Given the description of an element on the screen output the (x, y) to click on. 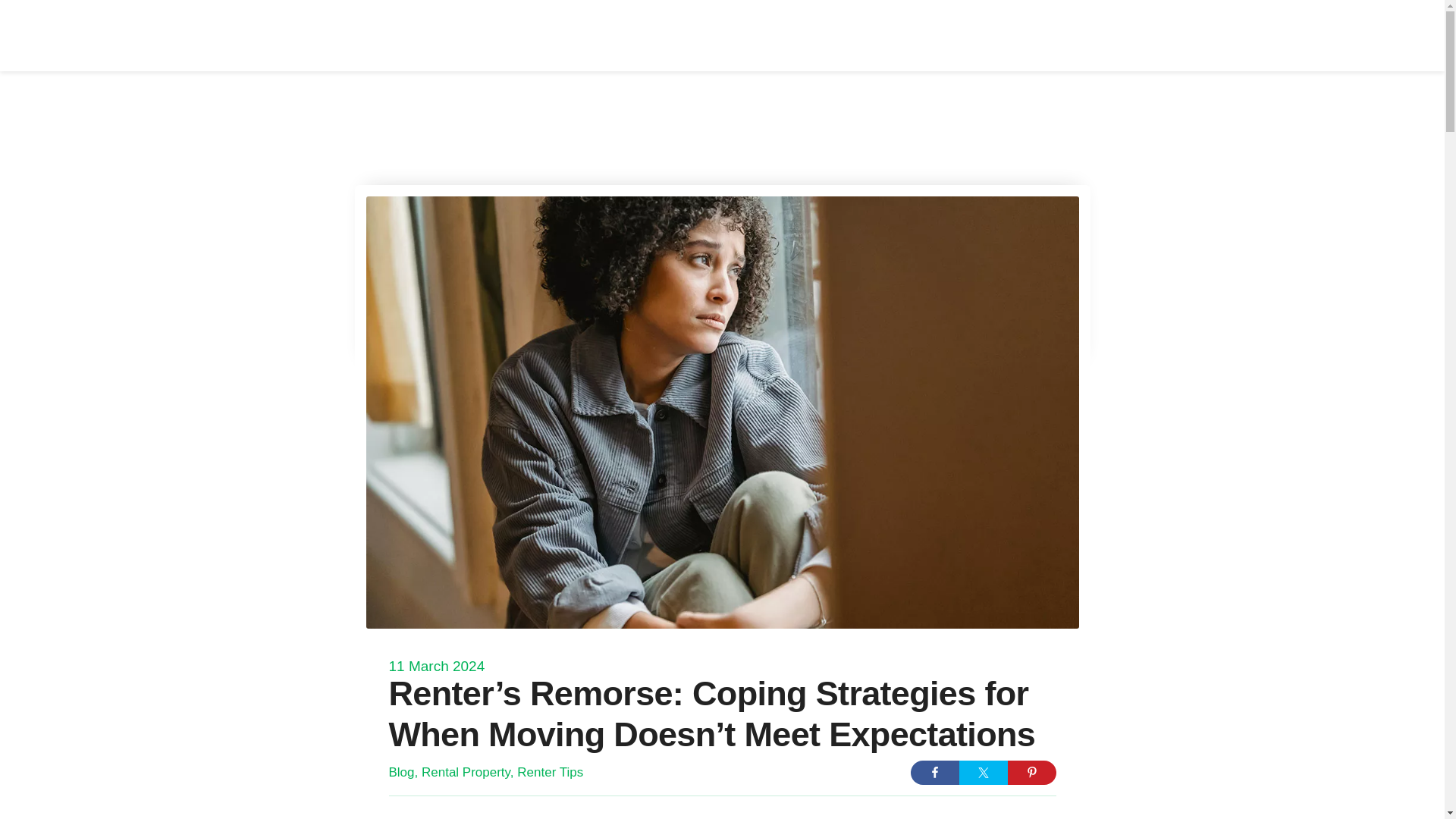
Renter Tips (549, 771)
Share on Twitter (982, 772)
Share on Facebook (934, 772)
Share on Pinterest (1031, 772)
Blog (400, 771)
Rental Property (466, 771)
